Given the description of an element on the screen output the (x, y) to click on. 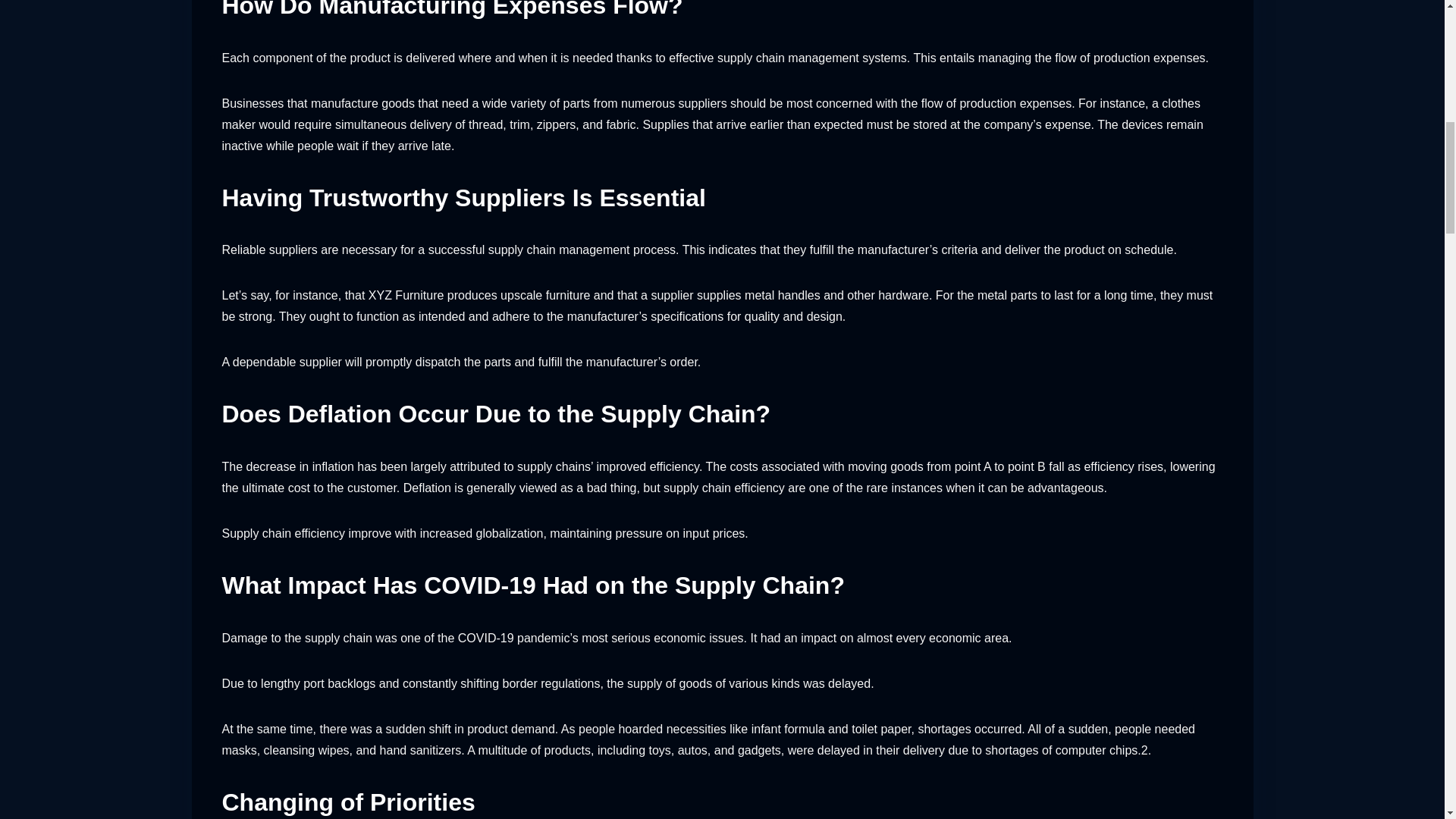
Owlsourcing Sourcing company (374, 660)
